Given the description of an element on the screen output the (x, y) to click on. 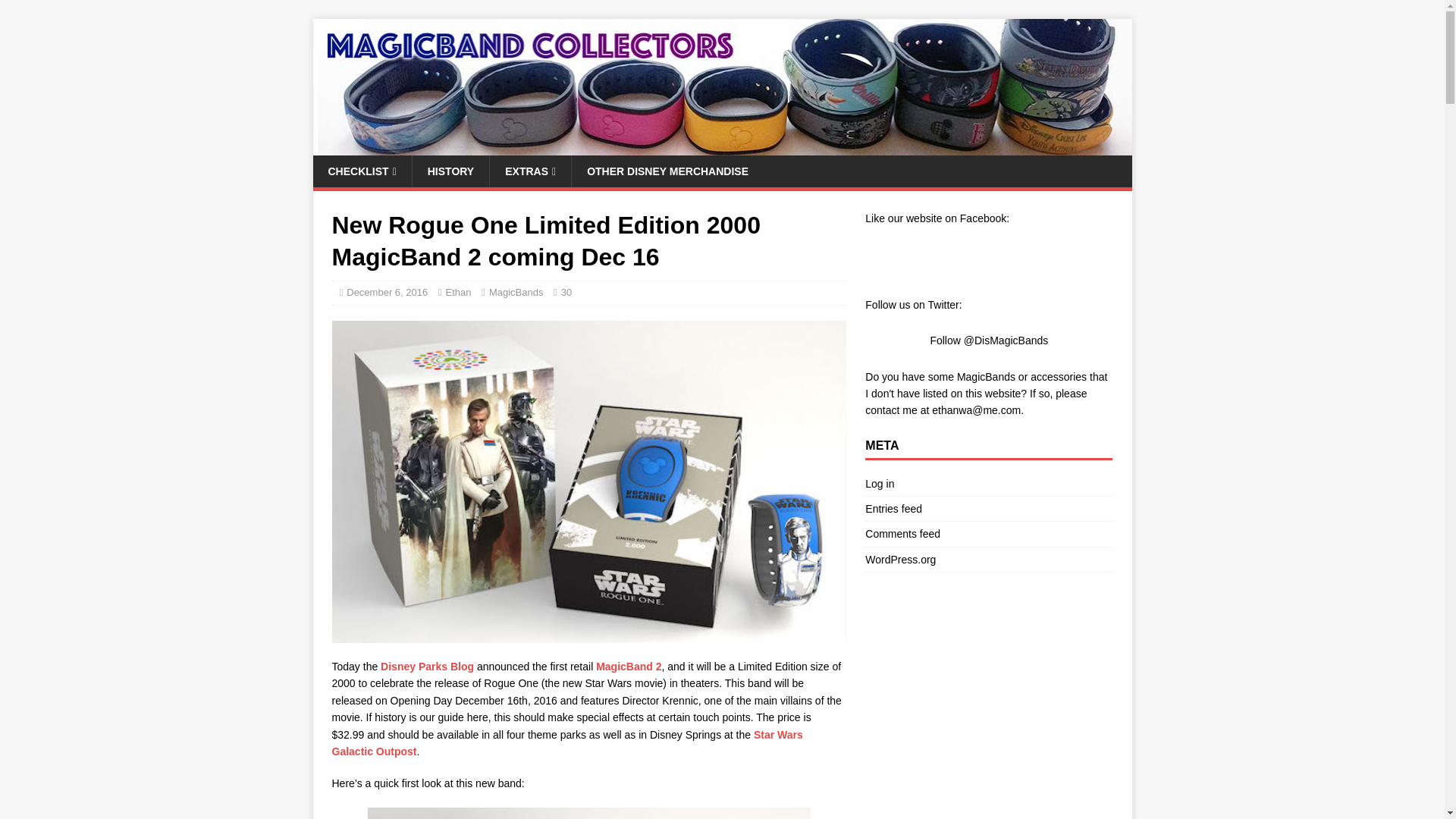
CHECKLIST (361, 171)
30 (566, 292)
